Given the description of an element on the screen output the (x, y) to click on. 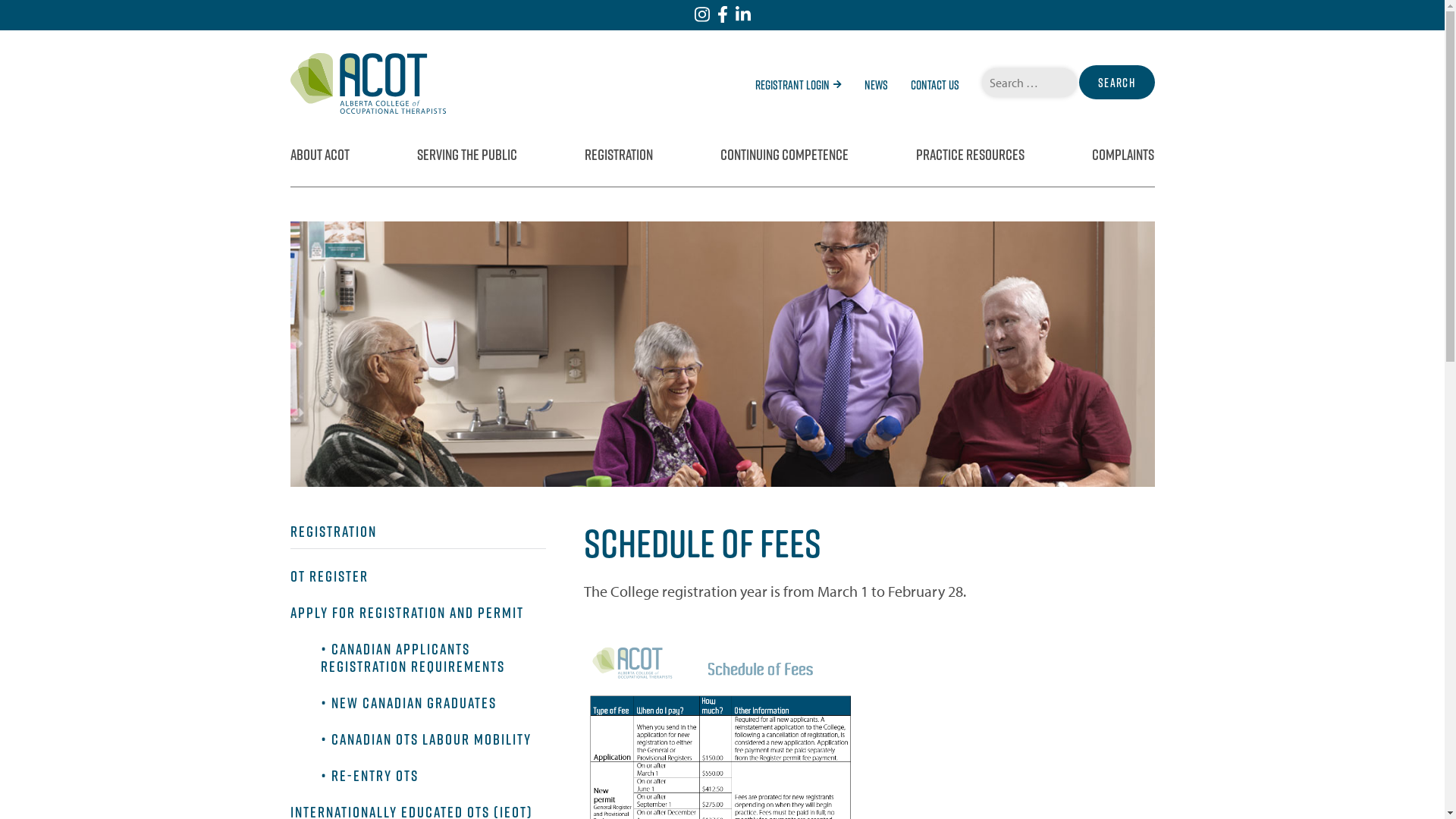
REGISTRATION Element type: text (417, 536)
APPLY FOR REGISTRATION AND PERMIT Element type: text (406, 612)
Search Element type: text (1116, 82)
CANADIAN OTS LABOUR MOBILITY Element type: text (430, 738)
ABOUT ACOT Element type: text (318, 154)
PRACTICE RESOURCES Element type: text (970, 154)
COMPLAINTS Element type: text (1123, 154)
REGISTRATION Element type: text (618, 154)
Contact Us Element type: text (934, 84)
CANADIAN APPLICANTS REGISTRATION REQUIREMENTS Element type: text (412, 657)
RE-ENTRY OTS Element type: text (373, 775)
News Element type: text (876, 84)
SERVING THE PUBLIC Element type: text (467, 154)
OT REGISTER Element type: text (328, 575)
Registrant Login Element type: text (798, 84)
NEW CANADIAN GRADUATES Element type: text (412, 702)
CONTINUING COMPETENCE Element type: text (784, 154)
